Given the description of an element on the screen output the (x, y) to click on. 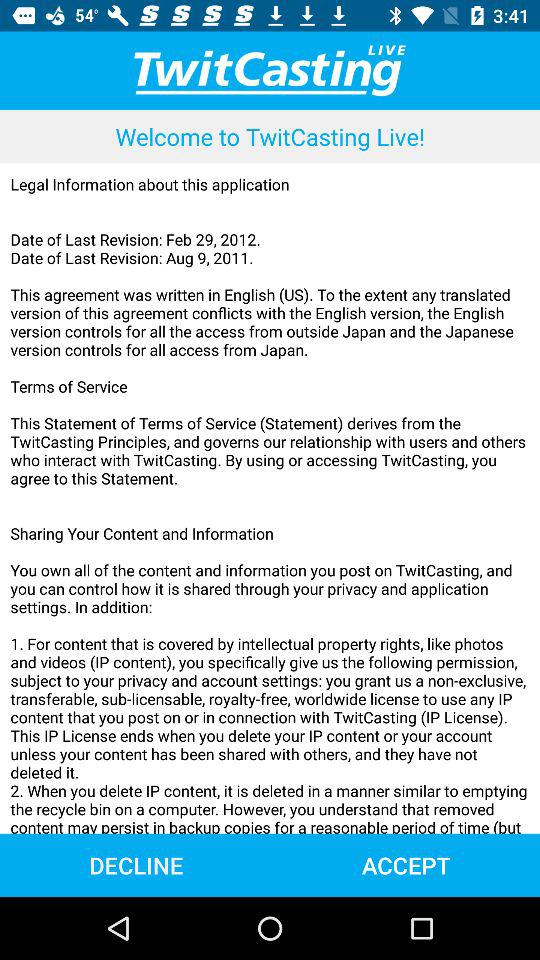
launch the icon below the legal information about (406, 864)
